Given the description of an element on the screen output the (x, y) to click on. 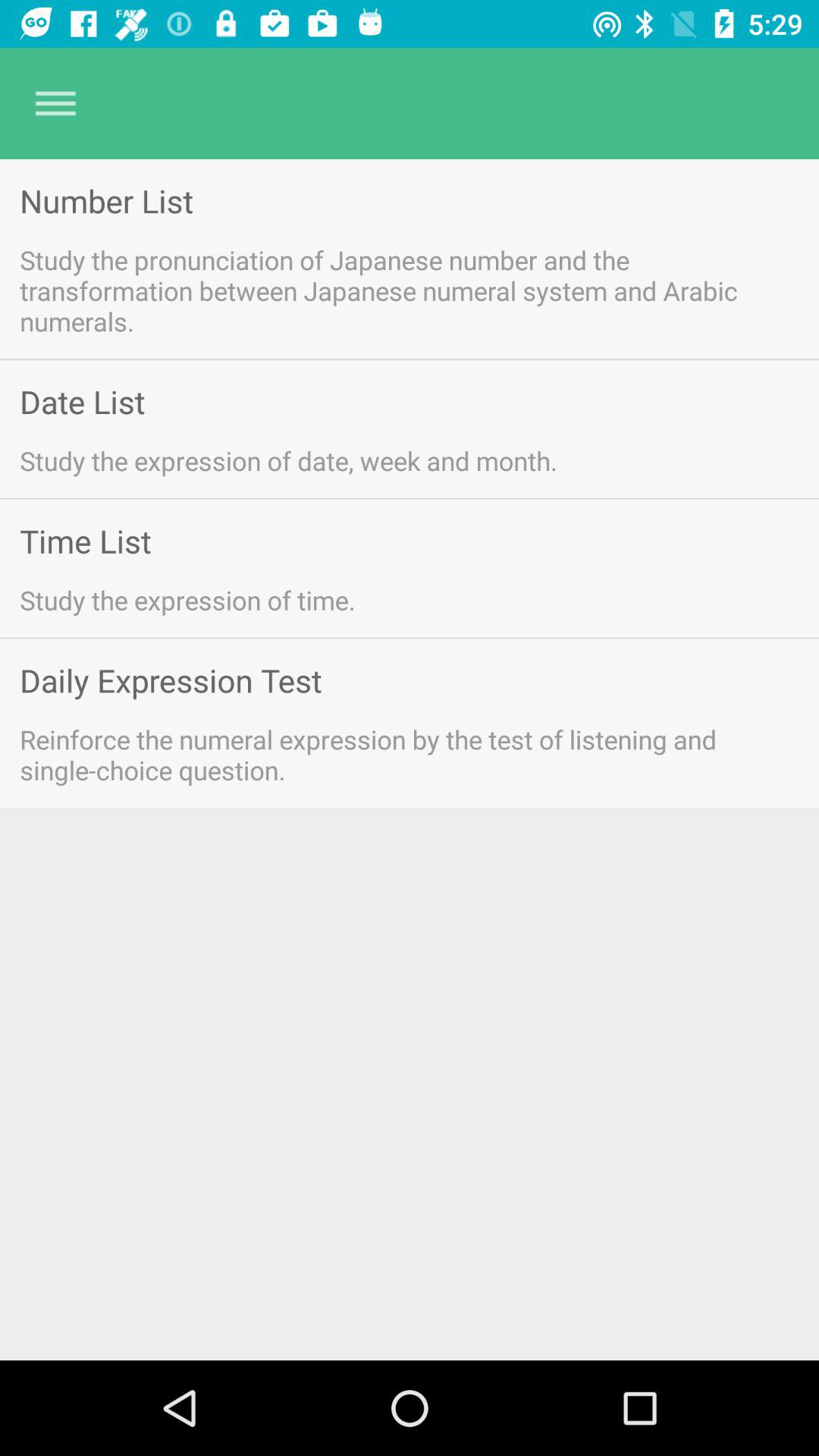
press the time list icon (85, 540)
